Given the description of an element on the screen output the (x, y) to click on. 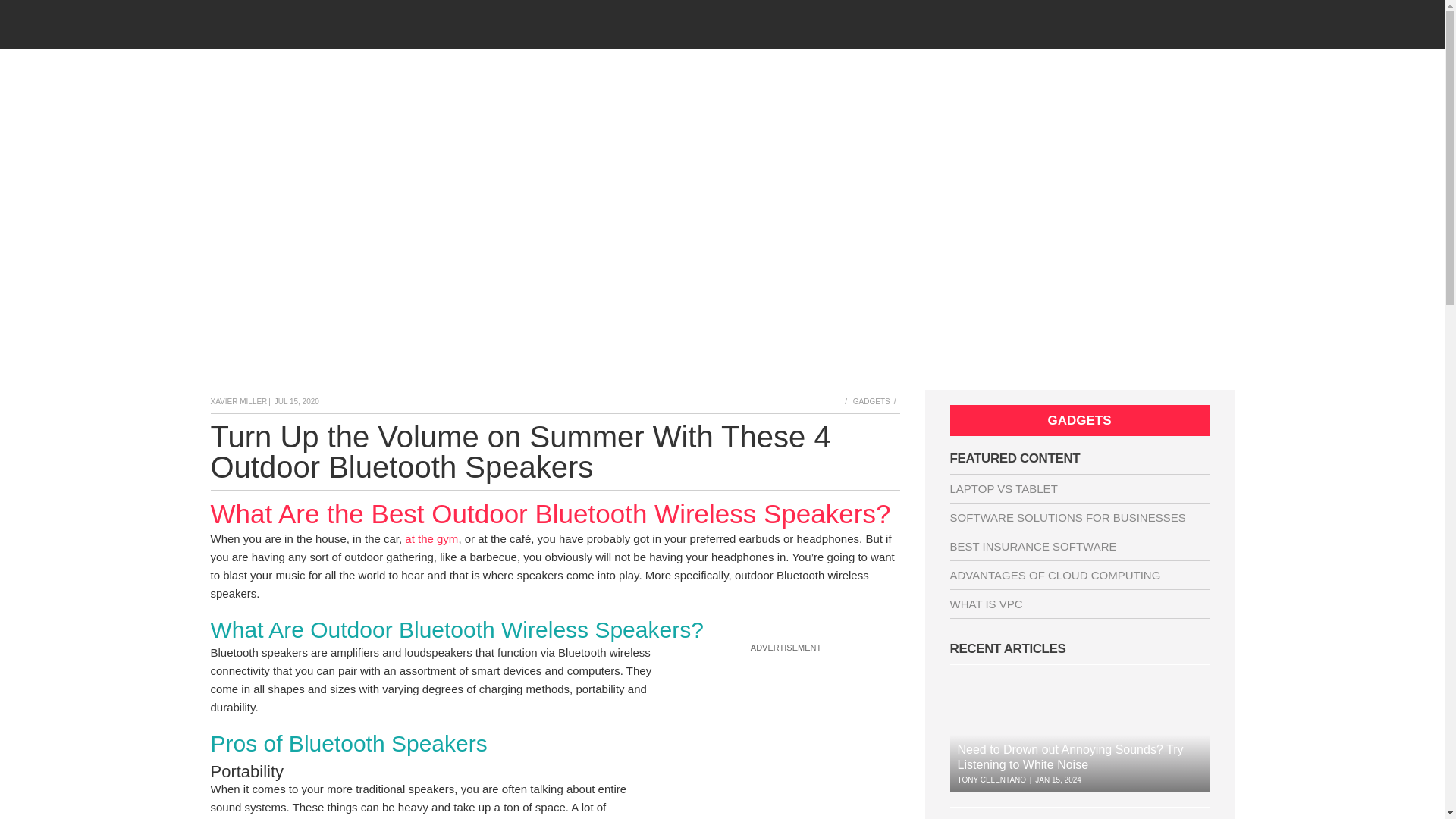
TechSerious (341, 24)
